Given the description of an element on the screen output the (x, y) to click on. 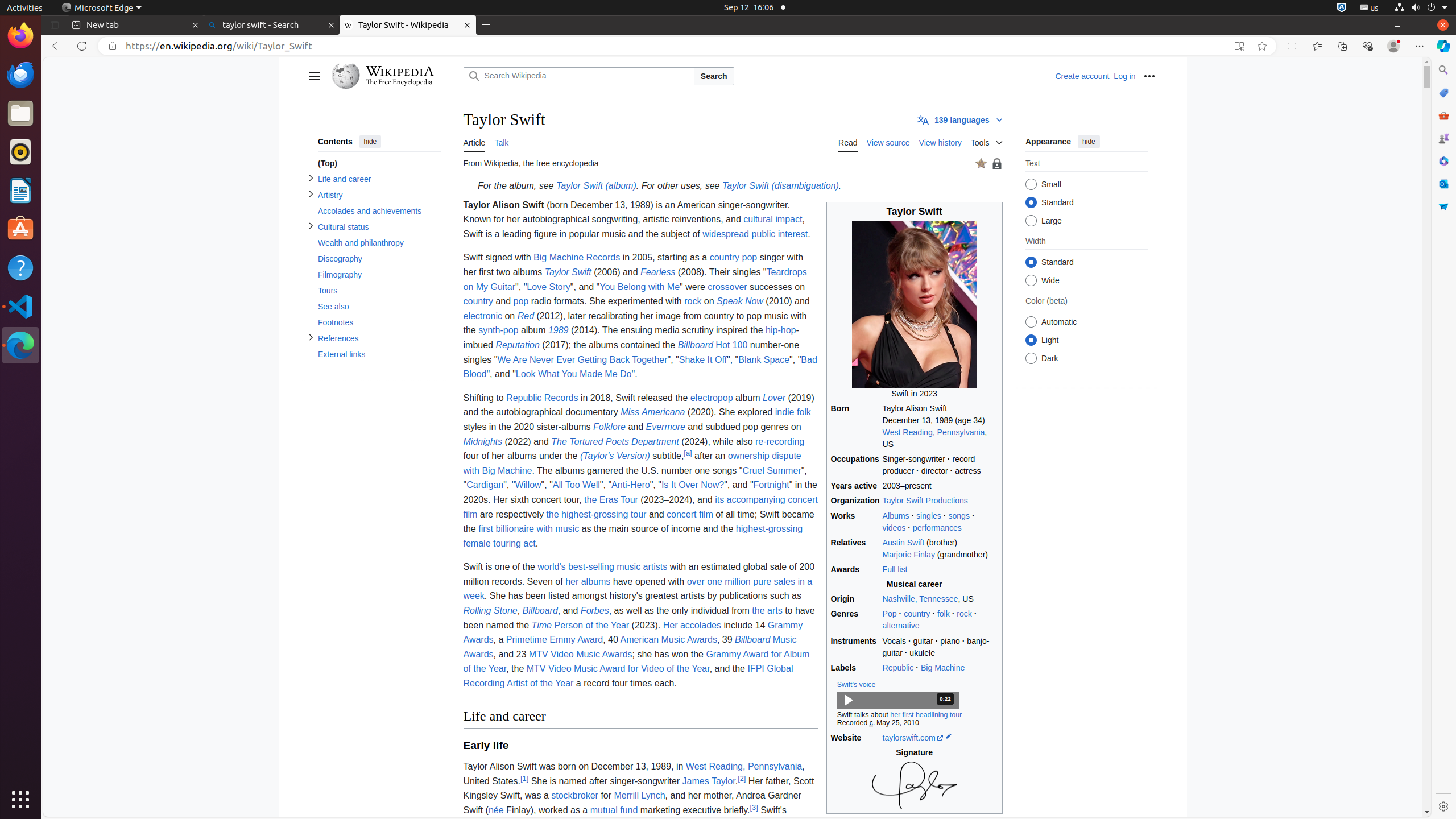
Large Element type: radio-button (1030, 220)
hide Element type: push-button (369, 140)
[1] Element type: link (524, 777)
MTV Video Music Awards Element type: link (580, 653)
